Given the description of an element on the screen output the (x, y) to click on. 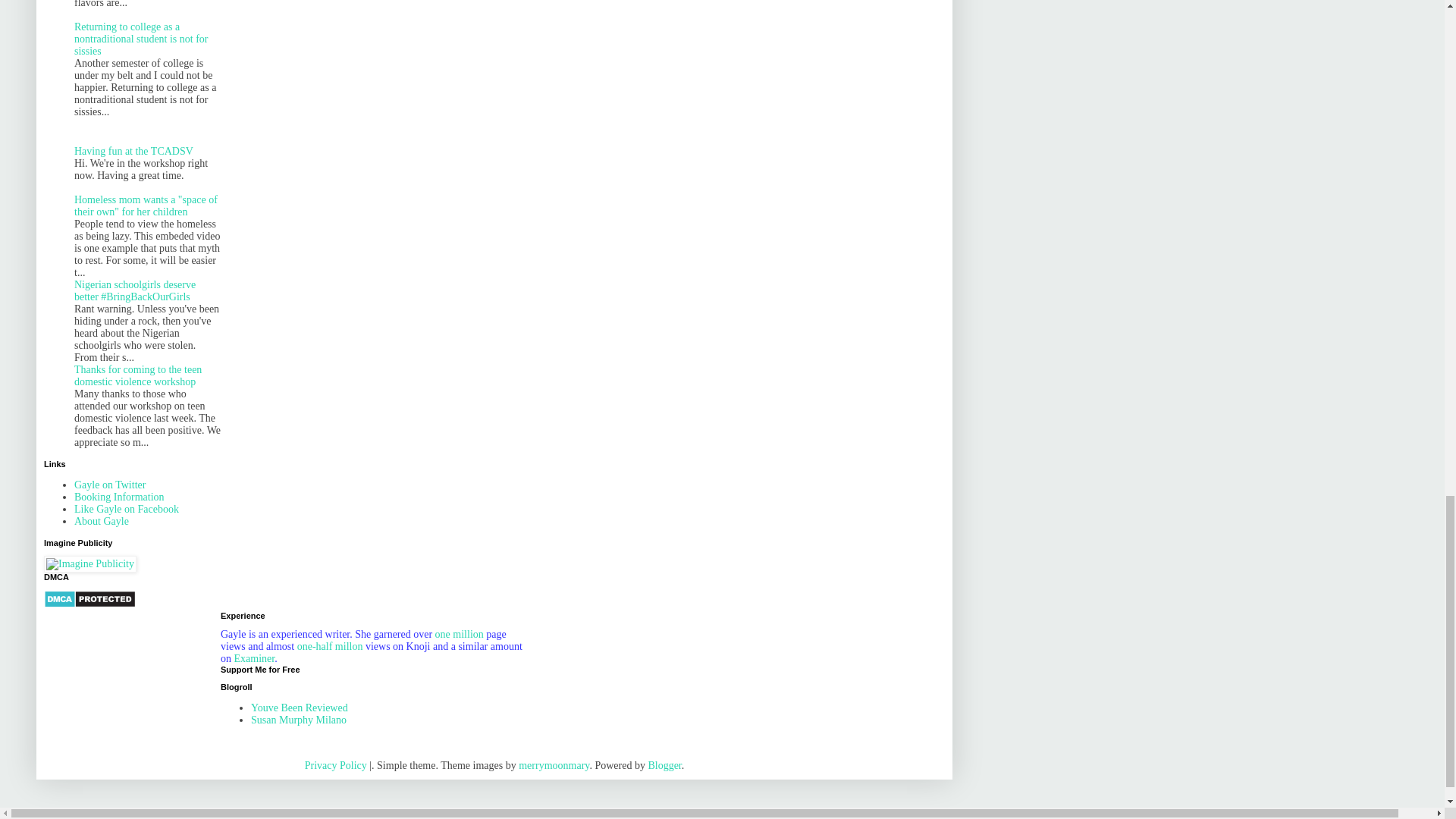
Thanks for coming to the teen domestic violence workshop (138, 375)
Homeless mom wants a "space of their own" for her children (145, 205)
Having fun at the TCADSV (133, 151)
Gayle on Twitter (109, 484)
Booking Information (119, 496)
DMCA (89, 604)
